Given the description of an element on the screen output the (x, y) to click on. 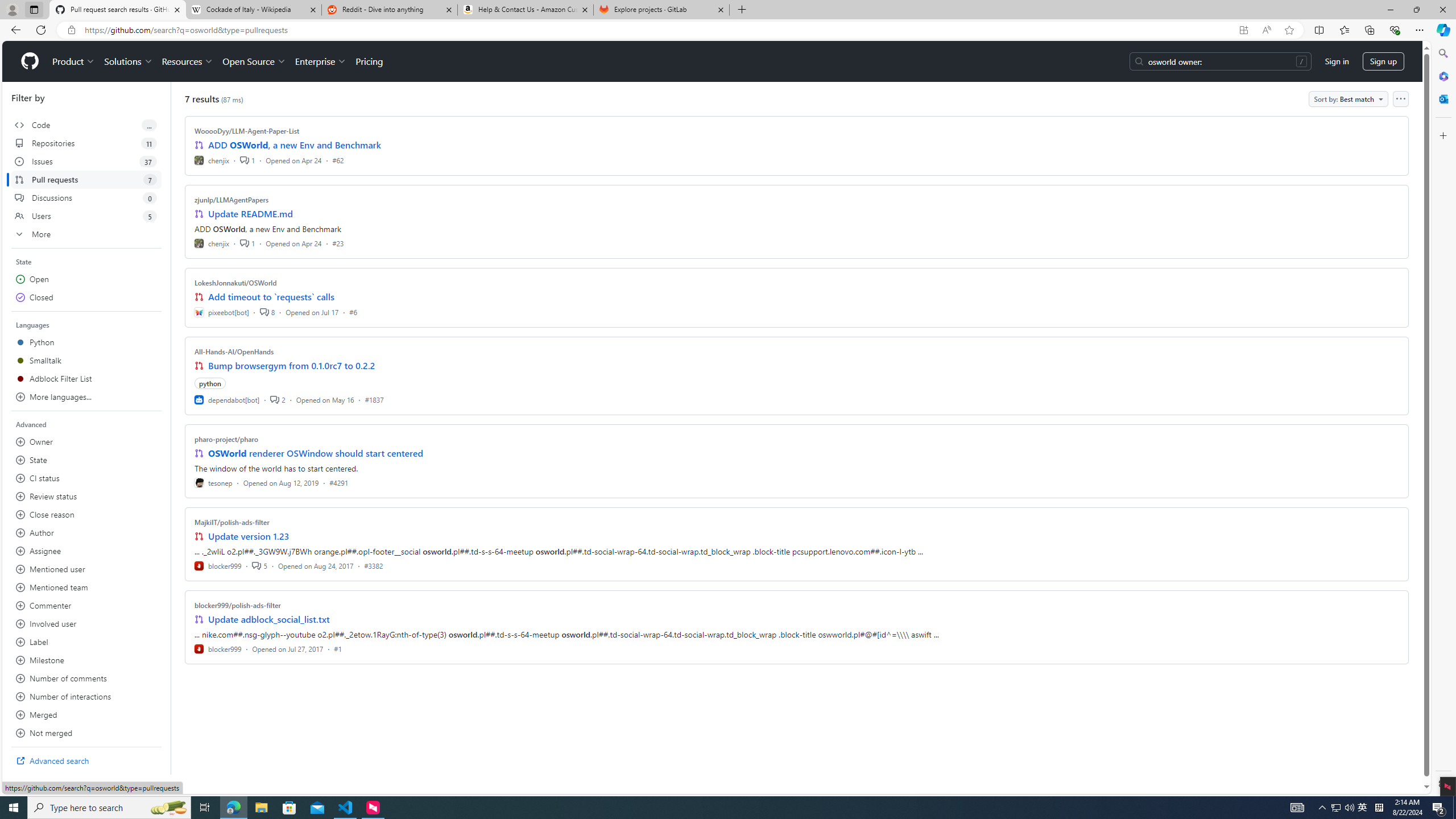
#62 (337, 159)
dependabot[bot] (227, 398)
2 (277, 398)
Add timeout to `requests` calls (271, 296)
